Given the description of an element on the screen output the (x, y) to click on. 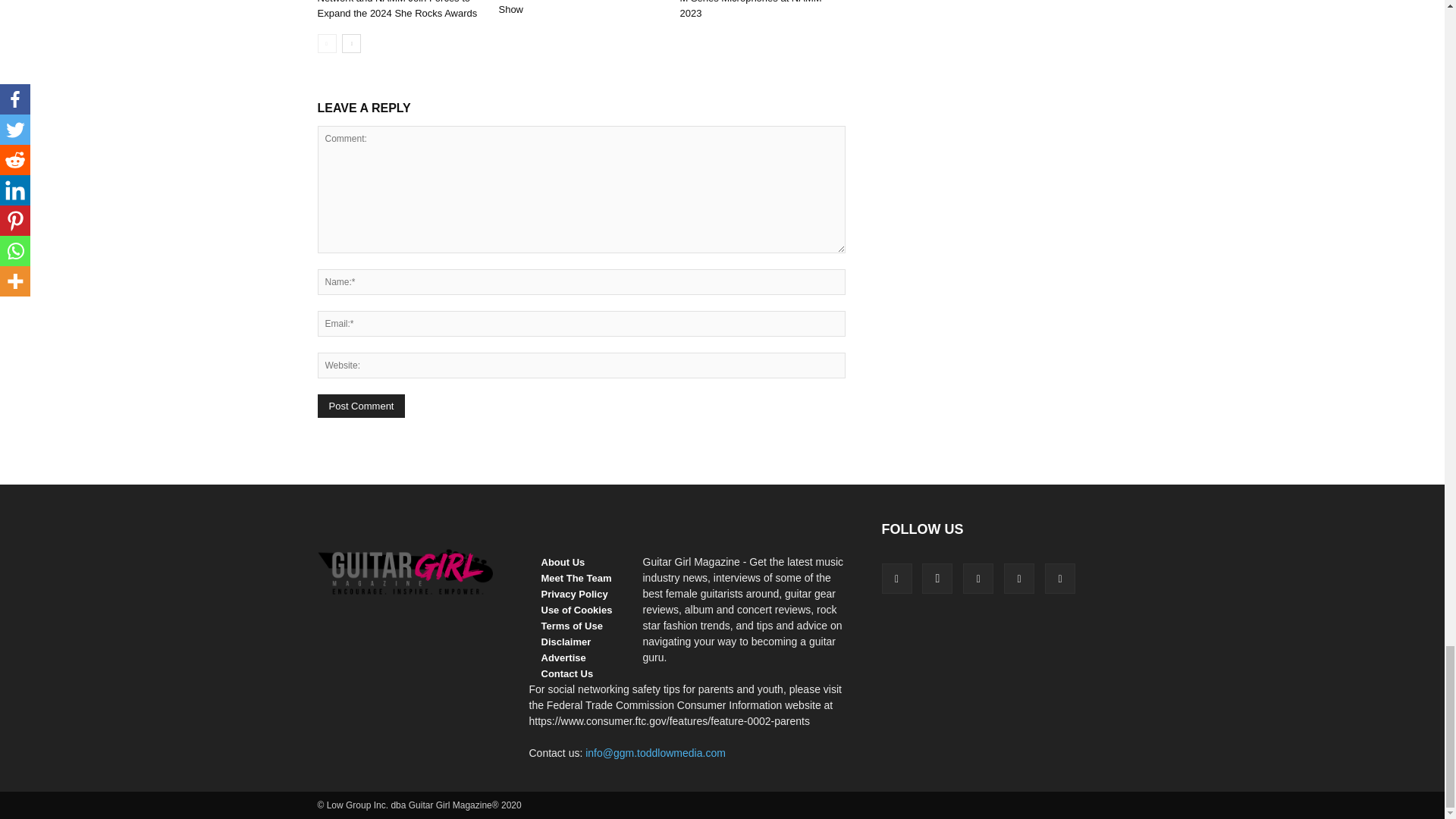
Post Comment (360, 405)
